Given the description of an element on the screen output the (x, y) to click on. 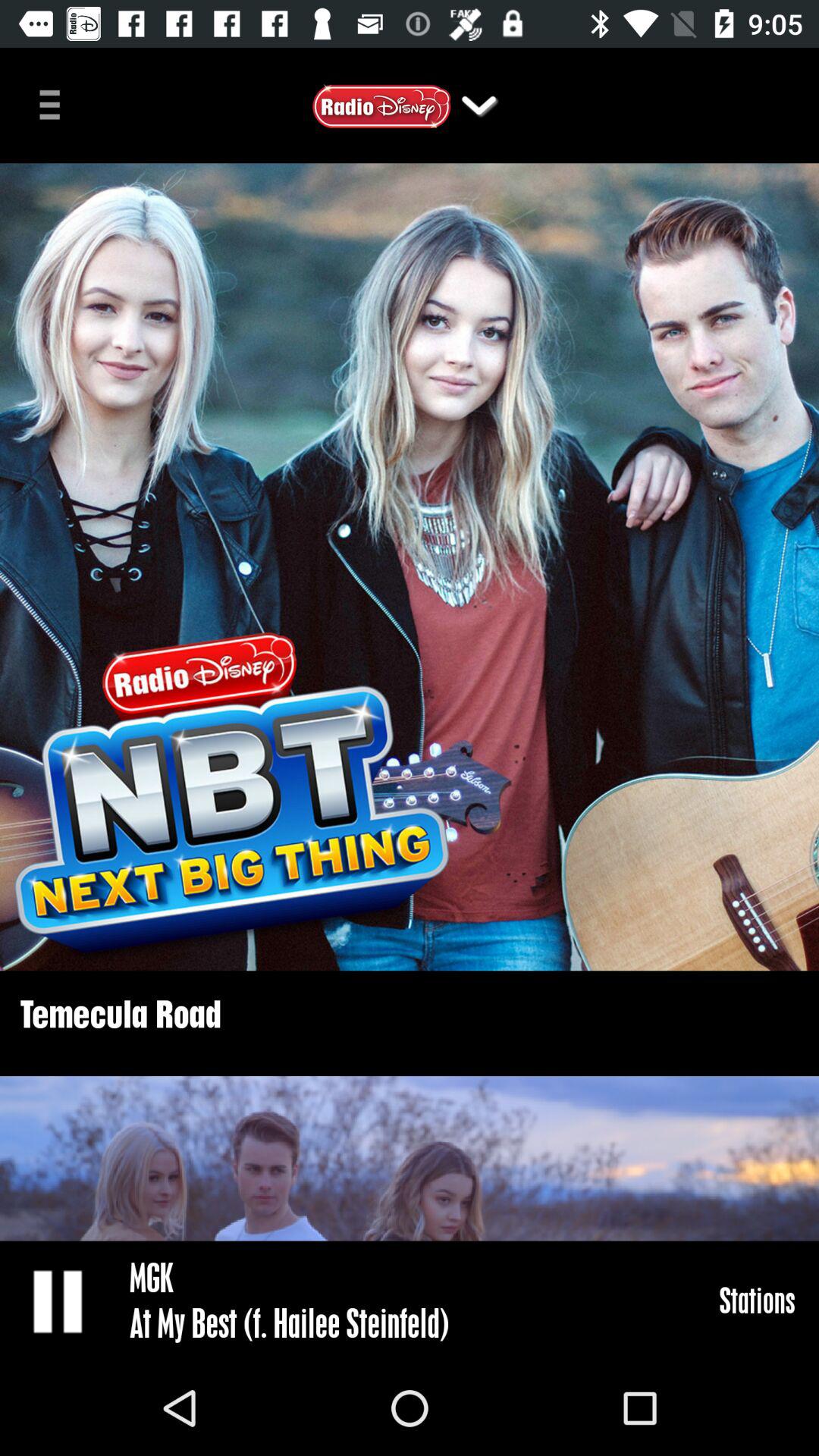
select stations (757, 1300)
